Given the description of an element on the screen output the (x, y) to click on. 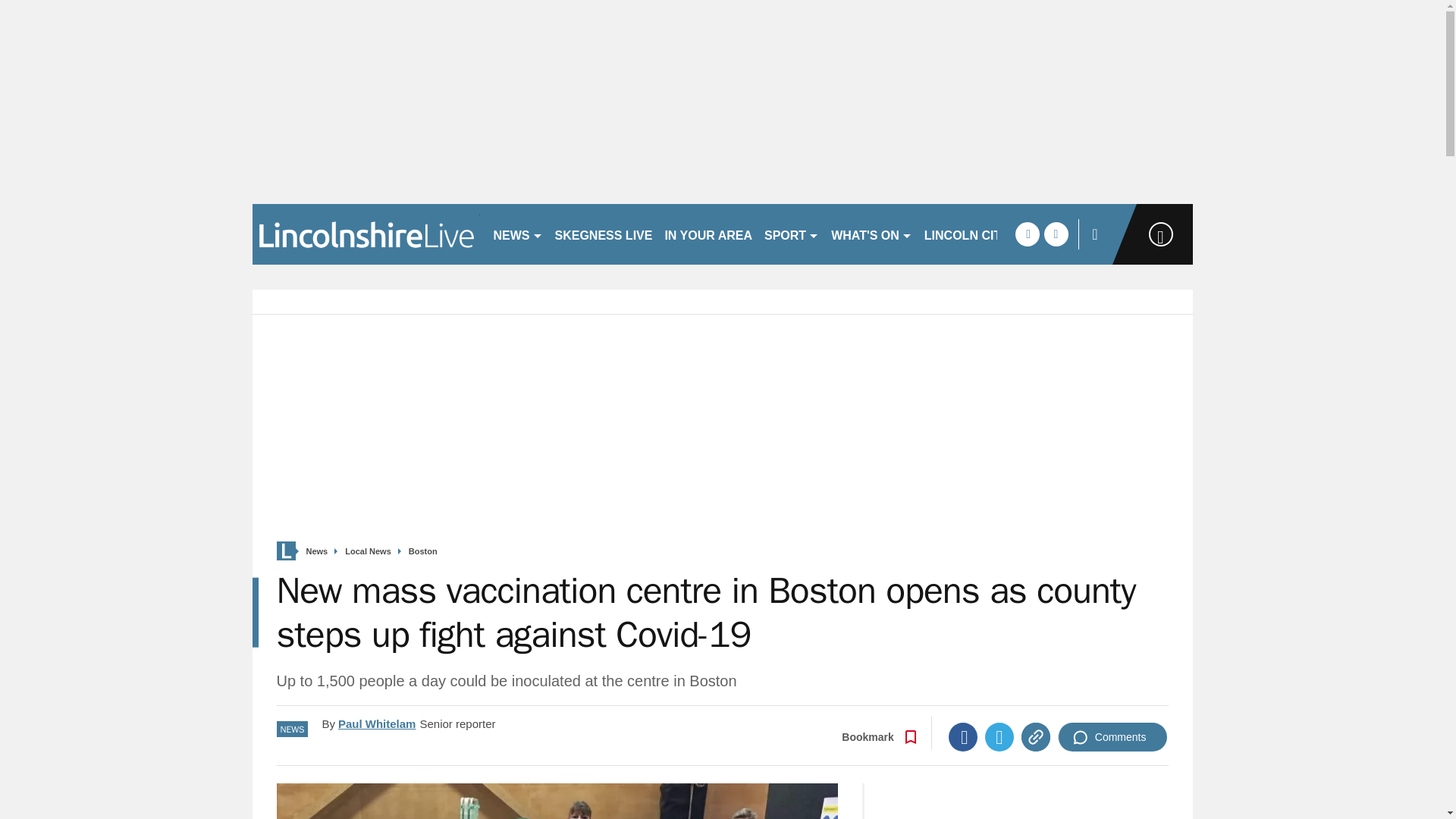
lincolnshirelive (365, 233)
Twitter (999, 736)
NEWS (517, 233)
Facebook (962, 736)
twitter (1055, 233)
SKEGNESS LIVE (603, 233)
facebook (1026, 233)
SPORT (791, 233)
LINCOLN CITY FC (975, 233)
Comments (1112, 736)
